Given the description of an element on the screen output the (x, y) to click on. 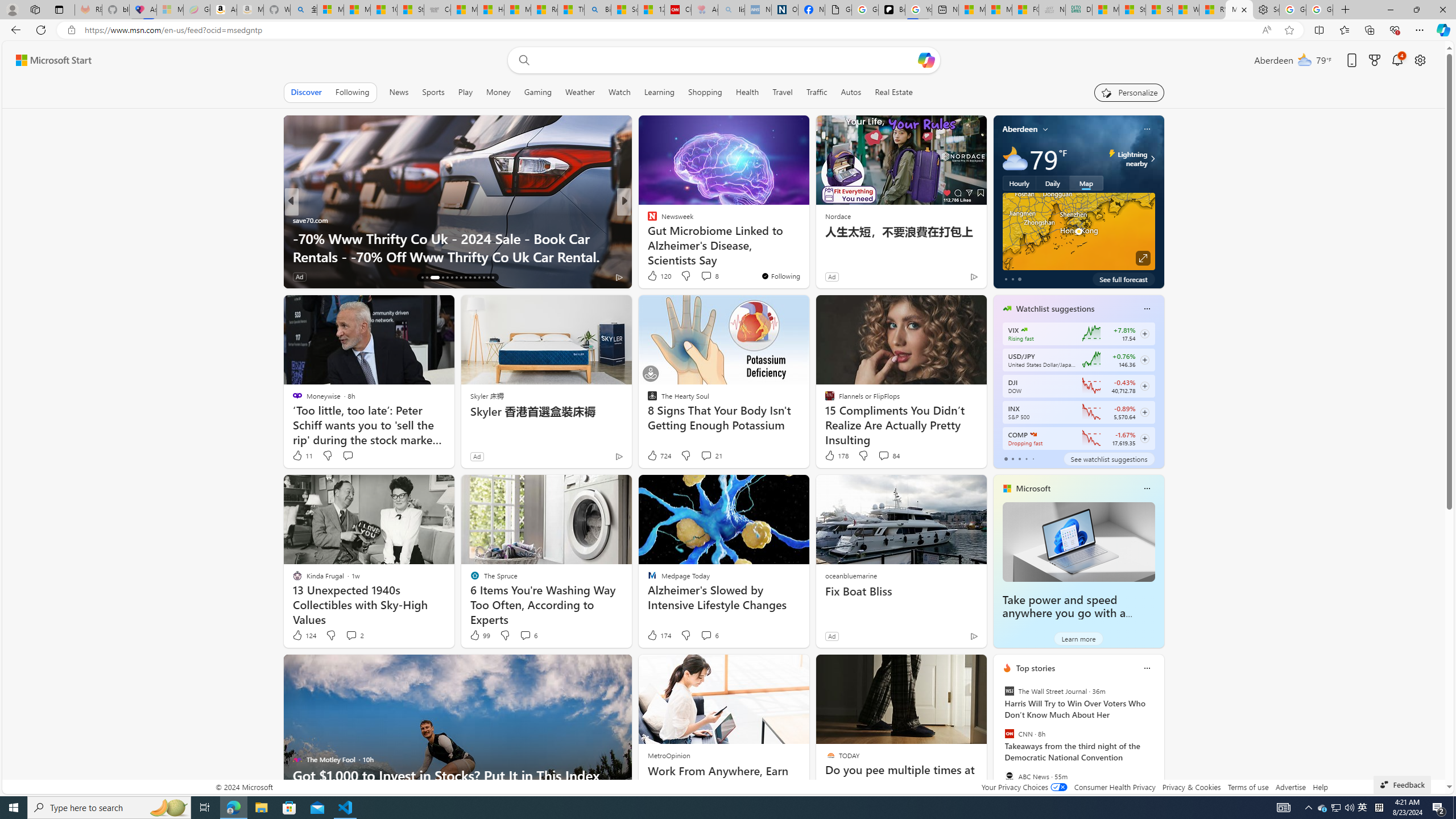
View comments 48 Comment (703, 276)
AutomationID: tab-29 (488, 277)
Mostly cloudy (1014, 158)
View comments 68 Comment (707, 276)
You're following Newsweek (780, 275)
Health (746, 92)
View comments 4 Comment (698, 276)
tab-4 (1032, 458)
